Given the description of an element on the screen output the (x, y) to click on. 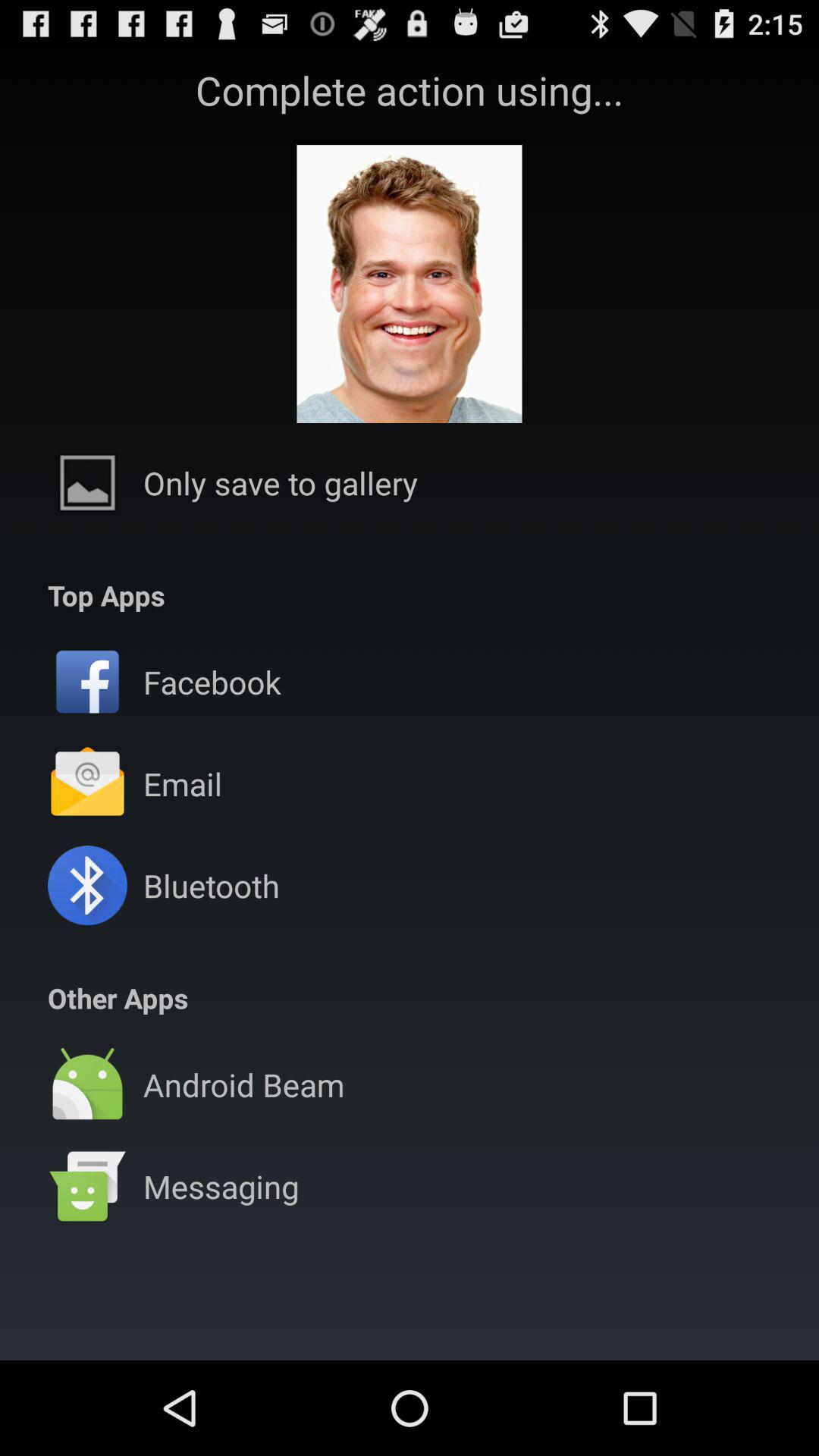
choose the android beam (243, 1084)
